Given the description of an element on the screen output the (x, y) to click on. 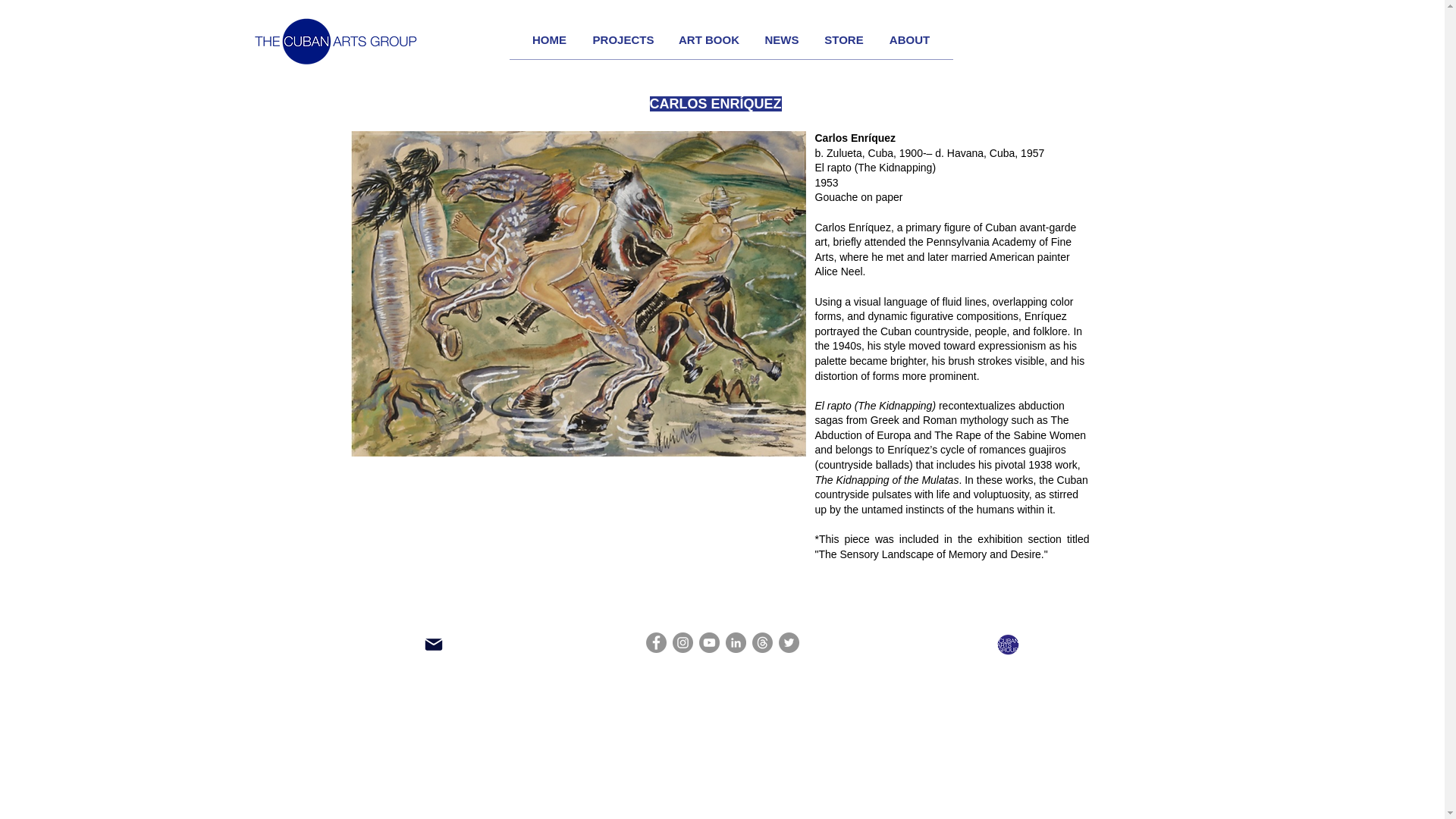
HOME (549, 40)
ABOUT (909, 40)
PROJECTS (623, 40)
STORE (843, 40)
ALL BLUE SOCIAL.png (1007, 644)
NEWS (782, 40)
ART BOOK (708, 40)
